Given the description of an element on the screen output the (x, y) to click on. 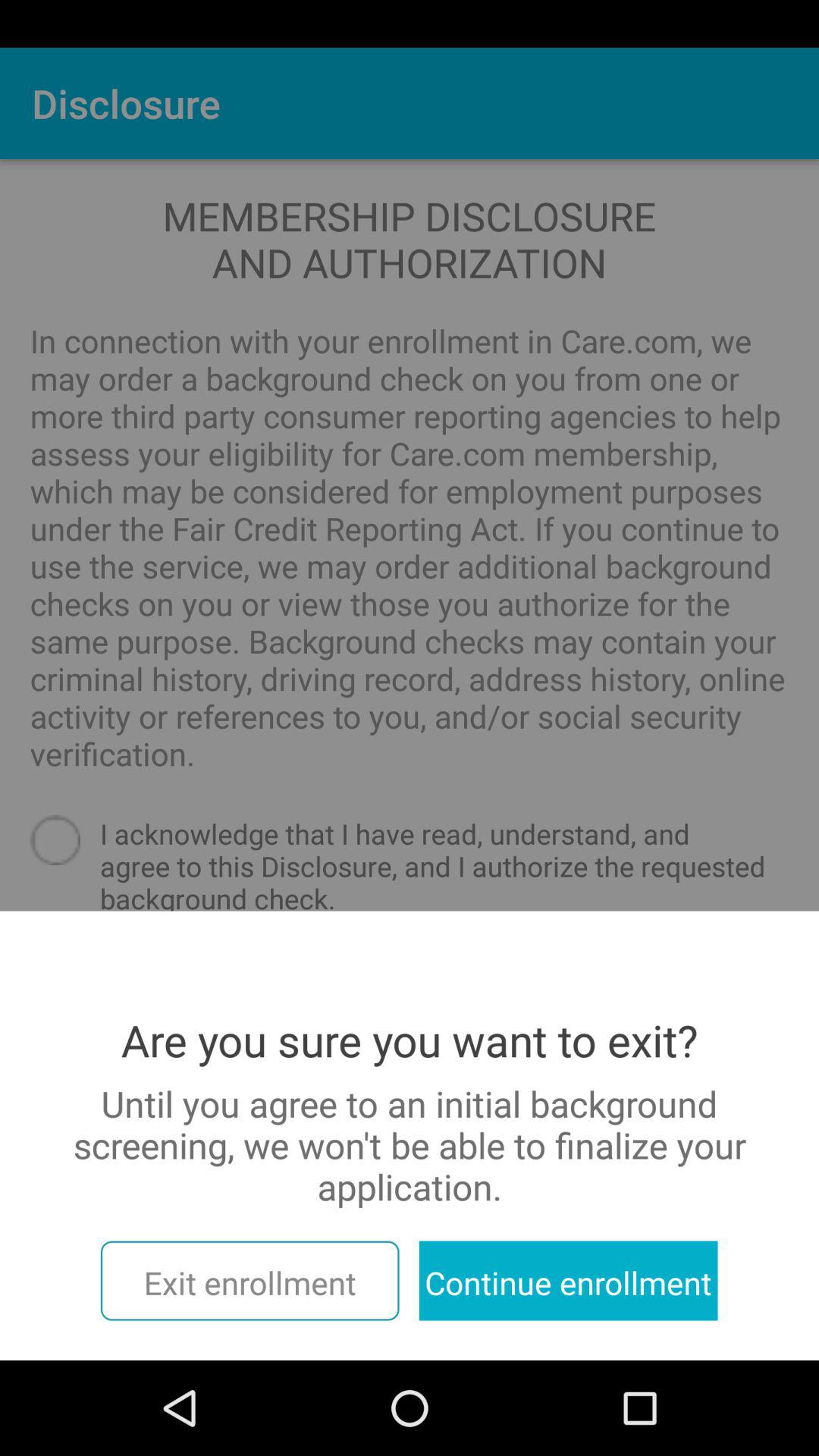
turn on the item below until you agree (568, 1280)
